Given the description of an element on the screen output the (x, y) to click on. 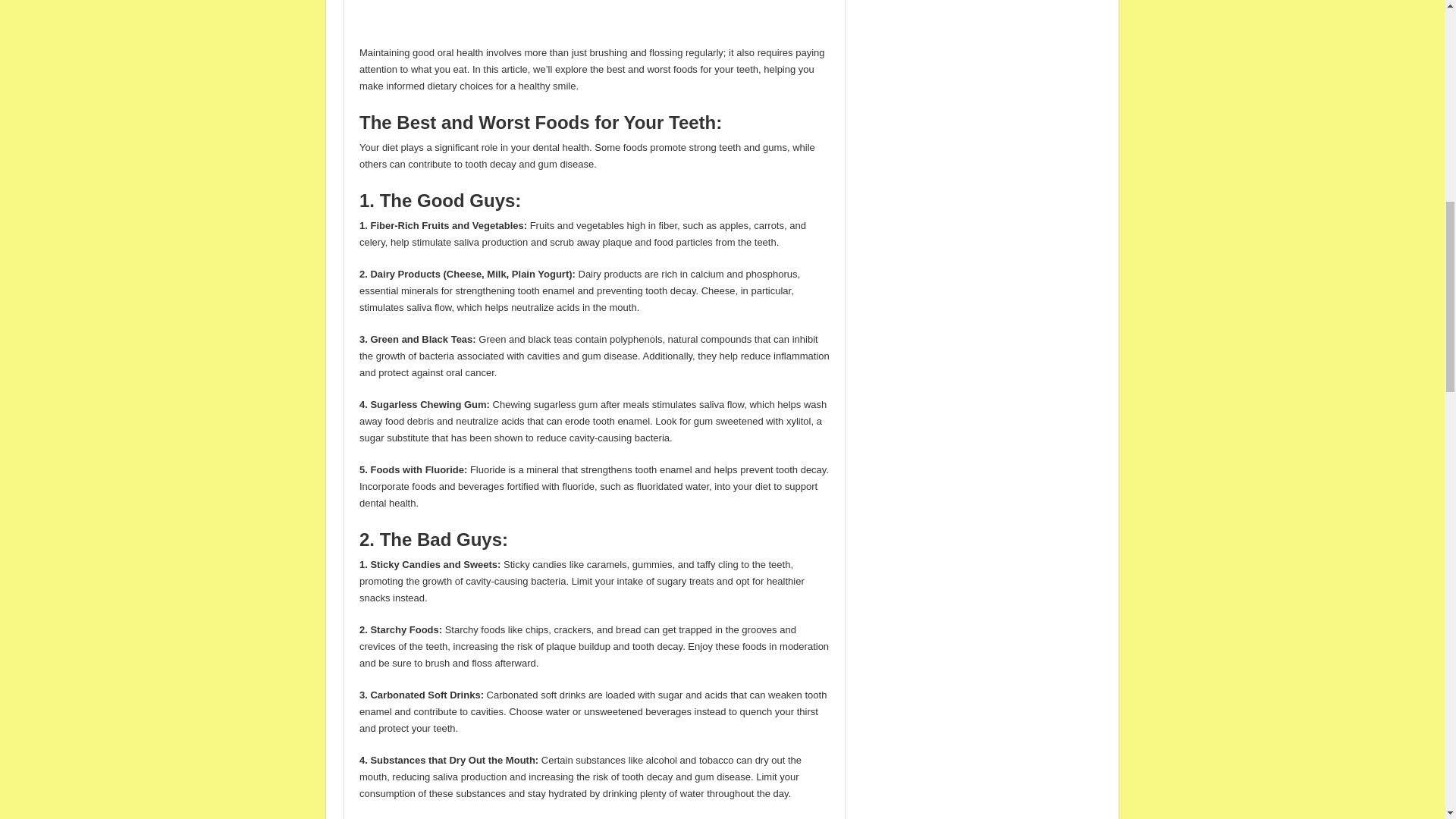
Scroll To Top (1421, 60)
